Given the description of an element on the screen output the (x, y) to click on. 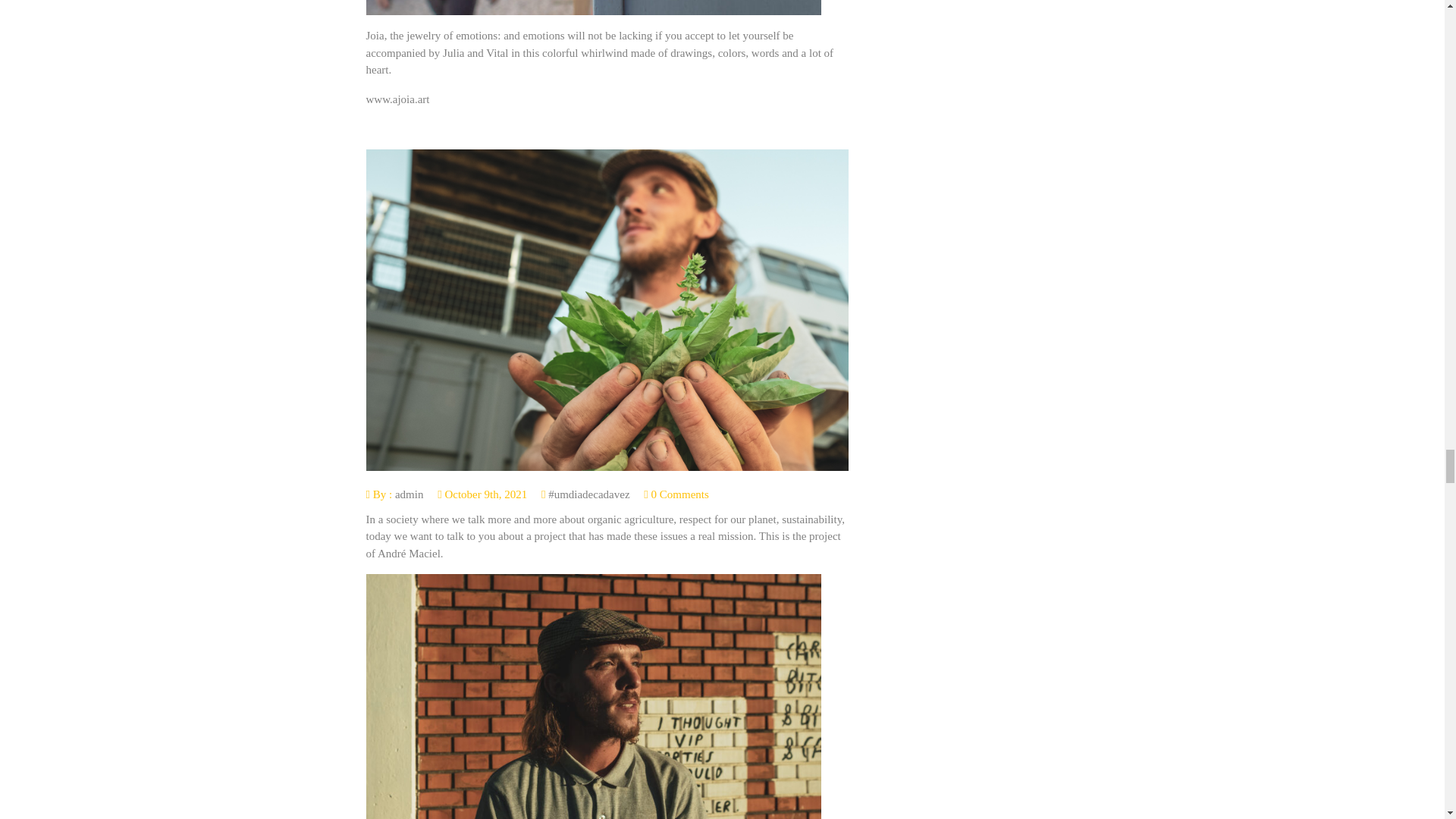
Posts by admin (408, 494)
www.ajoia.art (397, 99)
admin (408, 494)
